Given the description of an element on the screen output the (x, y) to click on. 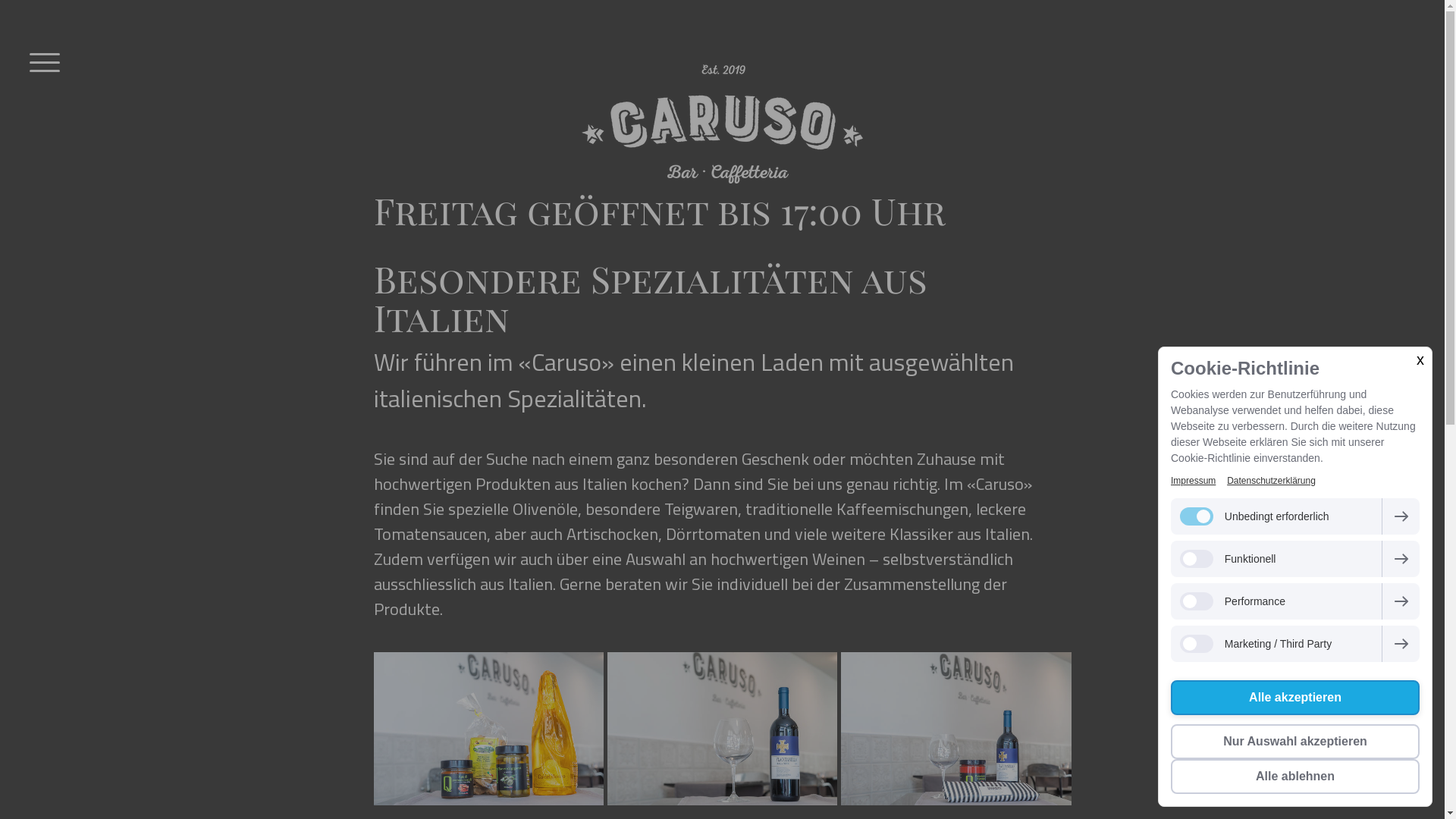
Alle akzeptieren Element type: text (1294, 697)
Impressum Element type: text (1192, 480)
Alle ablehnen Element type: text (1294, 776)
Nur Auswahl akzeptieren Element type: text (1294, 741)
